Given the description of an element on the screen output the (x, y) to click on. 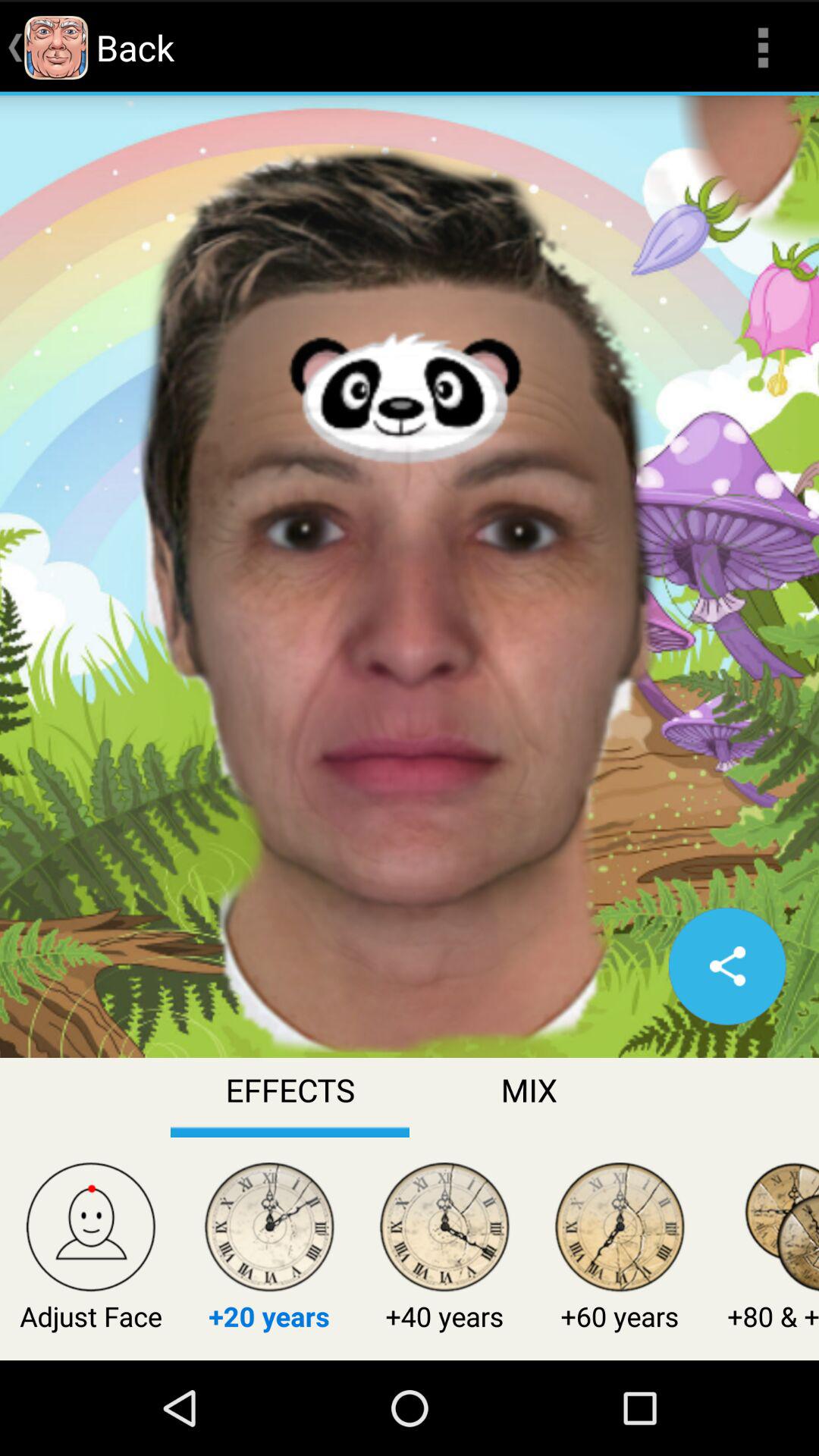
refresh the page (727, 966)
